Given the description of an element on the screen output the (x, y) to click on. 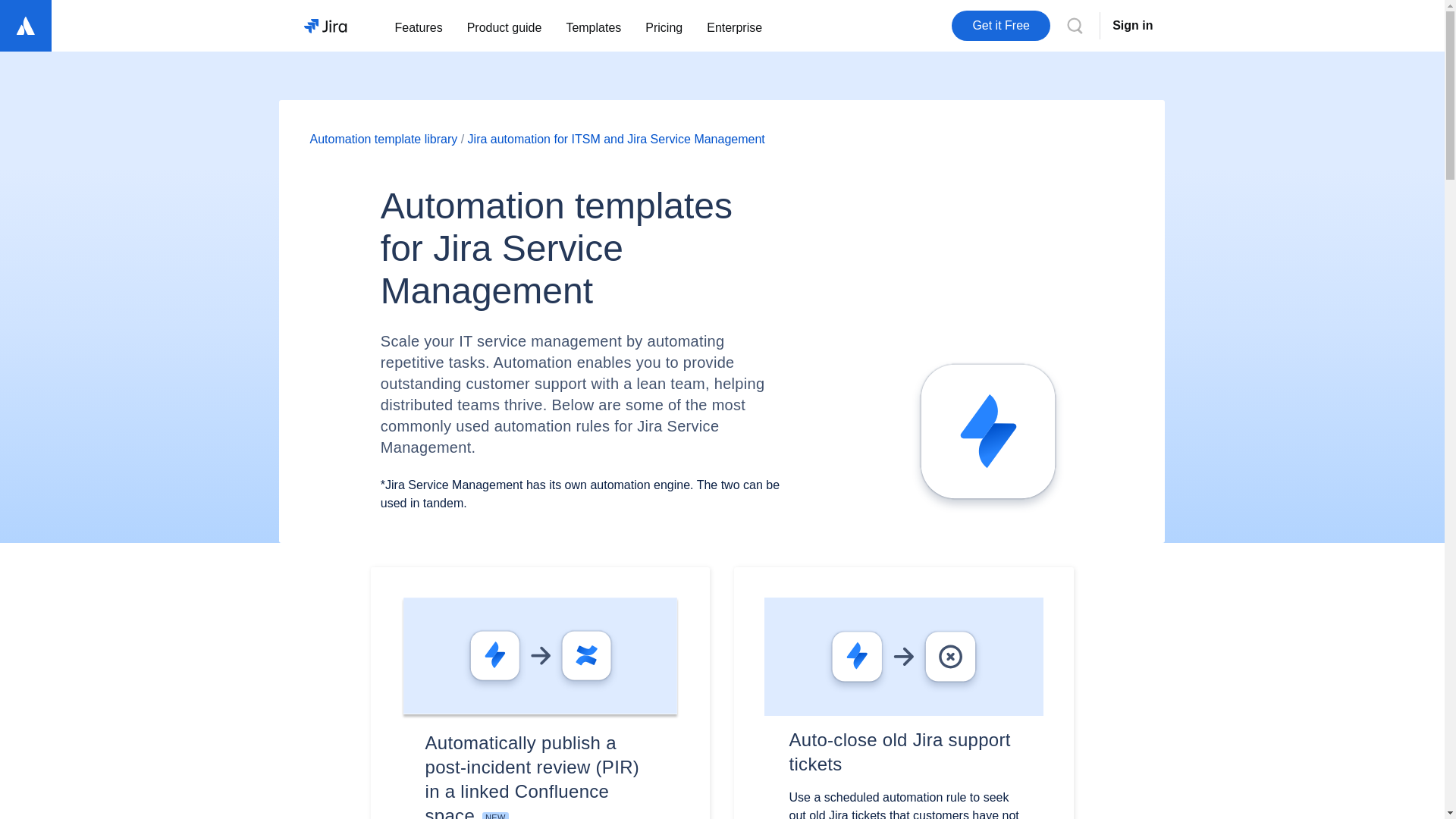
Templates (593, 25)
Pricing (663, 25)
Get it Free (1000, 25)
Enterprise (734, 25)
Automation template library (382, 138)
Features (417, 25)
Jira automation for ITSM and Jira Service Management (616, 138)
Product guide (504, 25)
Sign in (1131, 25)
